Given the description of an element on the screen output the (x, y) to click on. 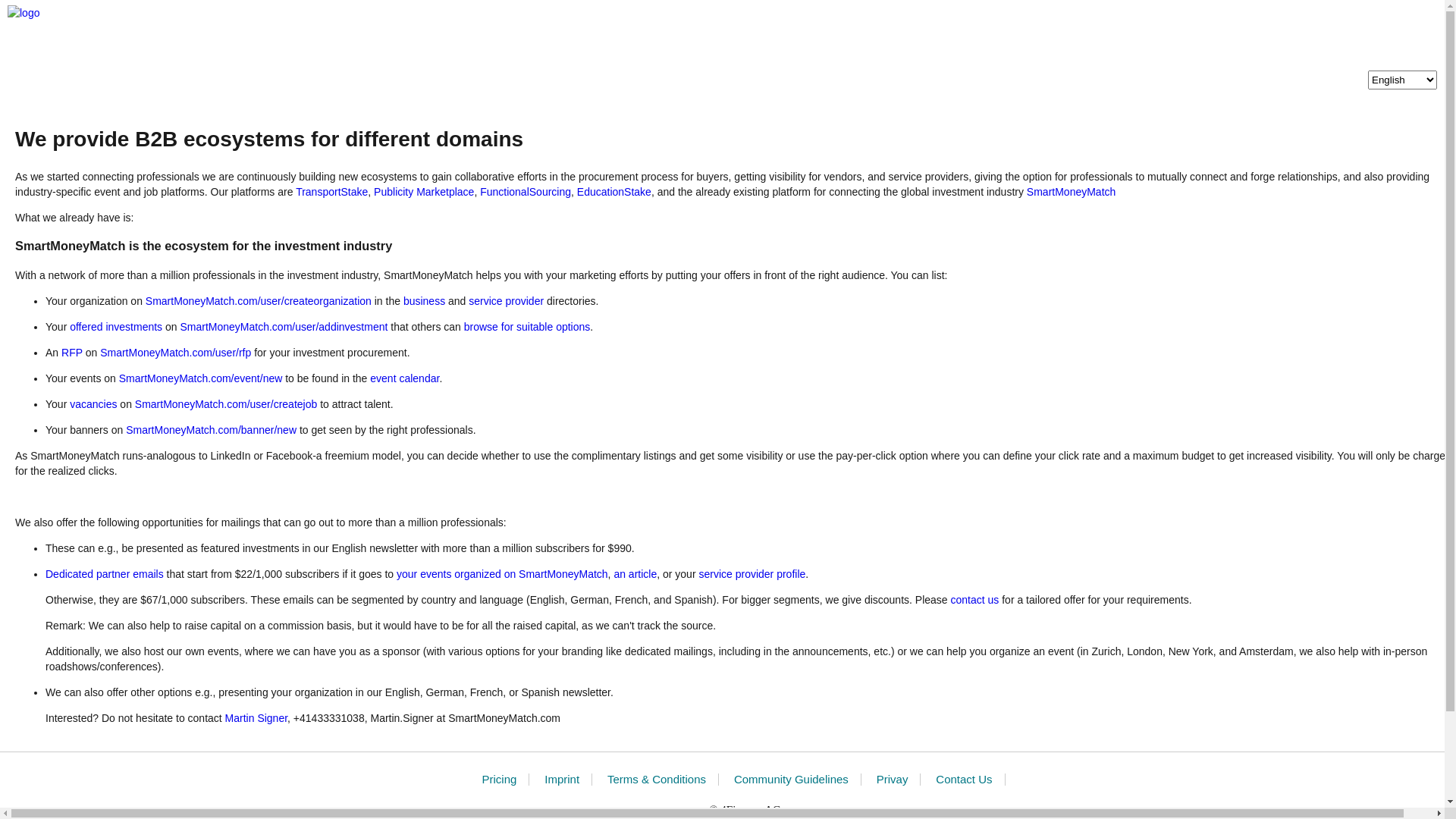
Privay Element type: text (892, 778)
SmartMoneyMatch.com/user/addinvestment Element type: text (283, 326)
your events organized on SmartMoneyMatch Element type: text (502, 573)
Community Guidelines Element type: text (791, 778)
SmartMoneyMatch.com/user/createorganization Element type: text (258, 300)
an article Element type: text (634, 573)
SmartMoneyMatch.com/user/createjob Element type: text (225, 404)
service provider Element type: text (505, 300)
SmartMoneyMatch.com/banner/new Element type: text (210, 429)
Publicity Marketplace Element type: text (423, 191)
event calendar Element type: text (404, 378)
Terms & Conditions Element type: text (656, 778)
service provider profile Element type: text (751, 573)
Imprint Element type: text (561, 778)
offered investments Element type: text (115, 326)
SmartMoneyMatch Element type: text (1070, 191)
SmartMoneyMatch.com/event/new Element type: text (200, 378)
Contact Us Element type: text (963, 778)
TransportStake Element type: text (331, 191)
SmartMoneyMatch.com/user/rfp Element type: text (175, 352)
contact us Element type: text (974, 599)
FunctionalSourcing Element type: text (525, 191)
business Element type: text (424, 300)
RFP Element type: text (71, 352)
Dedicated partner emails Element type: text (104, 573)
browse for suitable options Element type: text (527, 326)
EducationStake Element type: text (614, 191)
Pricing Element type: text (498, 778)
Martin Signer Element type: text (256, 718)
vacancies Element type: text (92, 404)
